Given the description of an element on the screen output the (x, y) to click on. 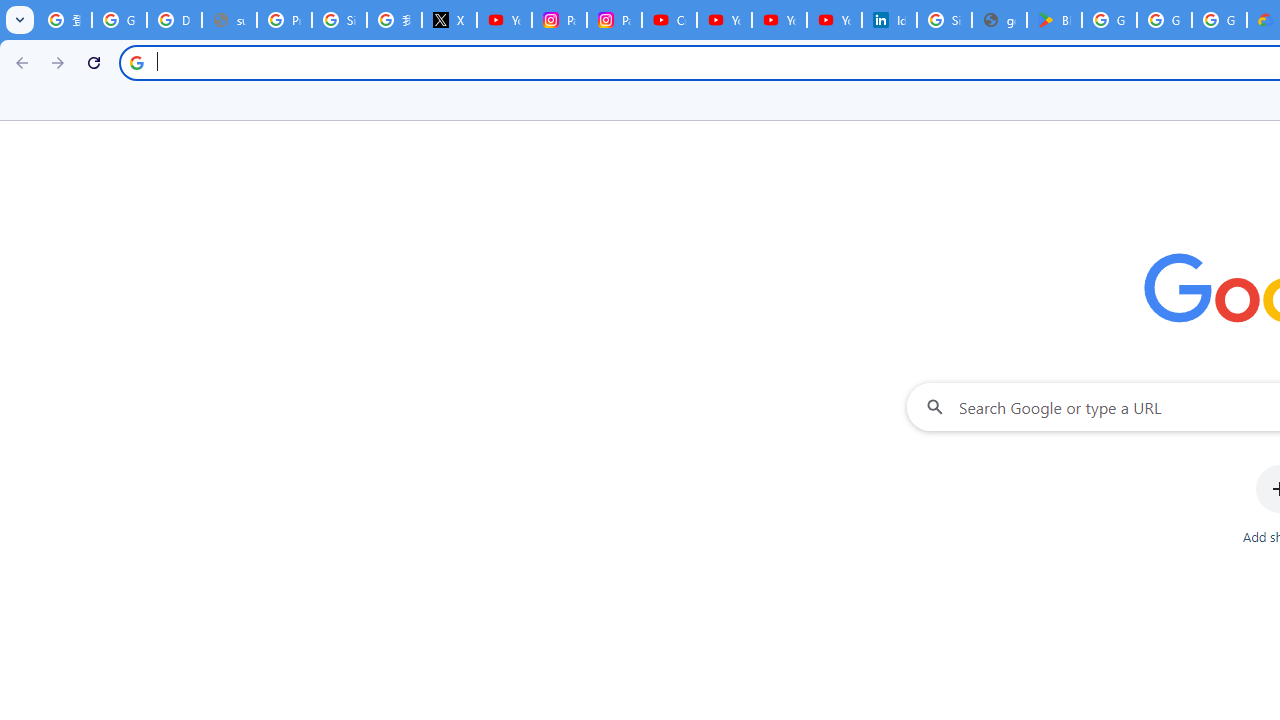
YouTube Culture & Trends - YouTube Top 10, 2021 (779, 20)
Sign in - Google Accounts (339, 20)
Privacy Help Center - Policies Help (284, 20)
YouTube Culture & Trends - YouTube Top 10, 2021 (833, 20)
X (449, 20)
YouTube Content Monetization Policies - How YouTube Works (504, 20)
